Given the description of an element on the screen output the (x, y) to click on. 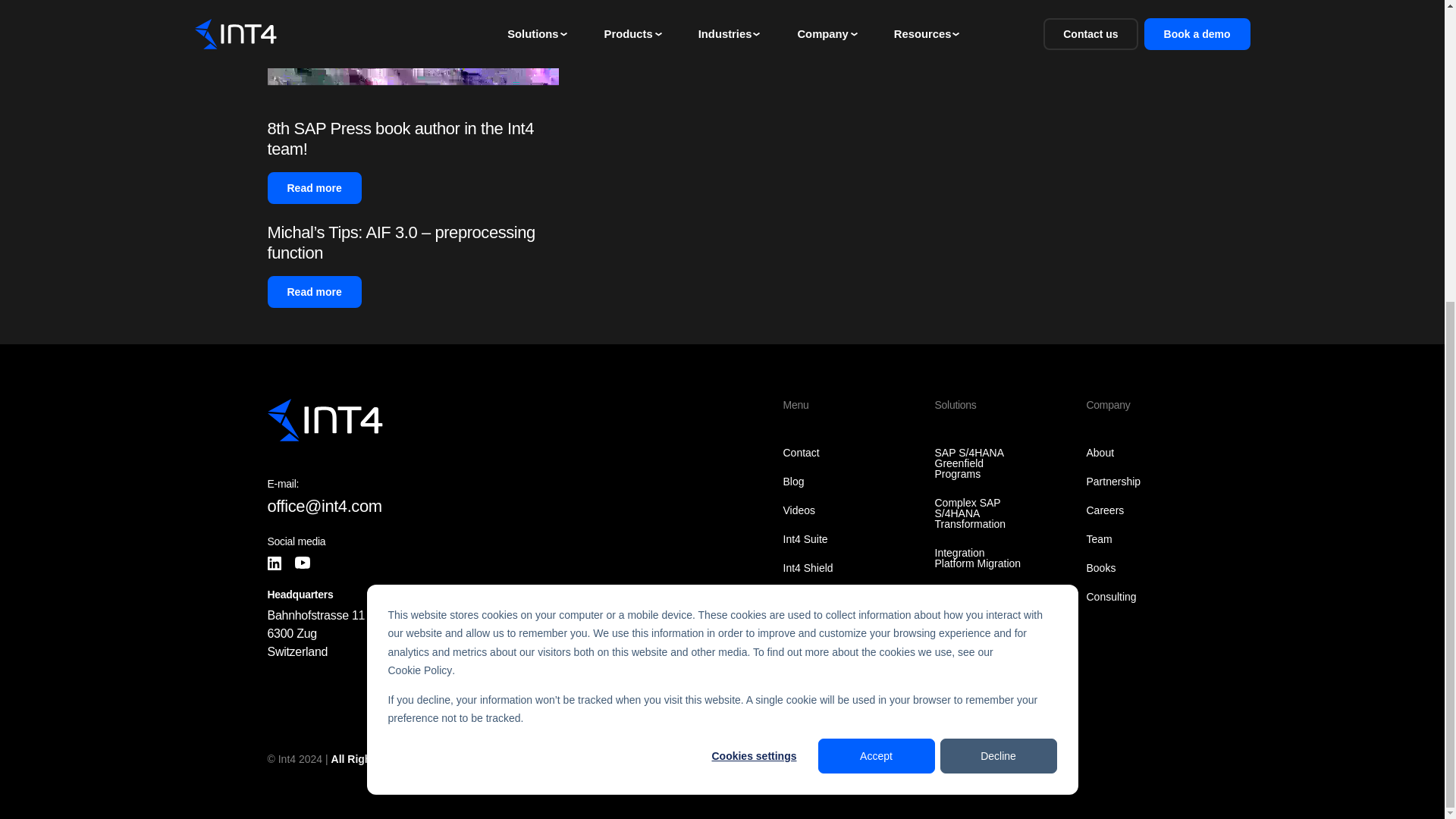
Cookie Policy (420, 200)
